Given the description of an element on the screen output the (x, y) to click on. 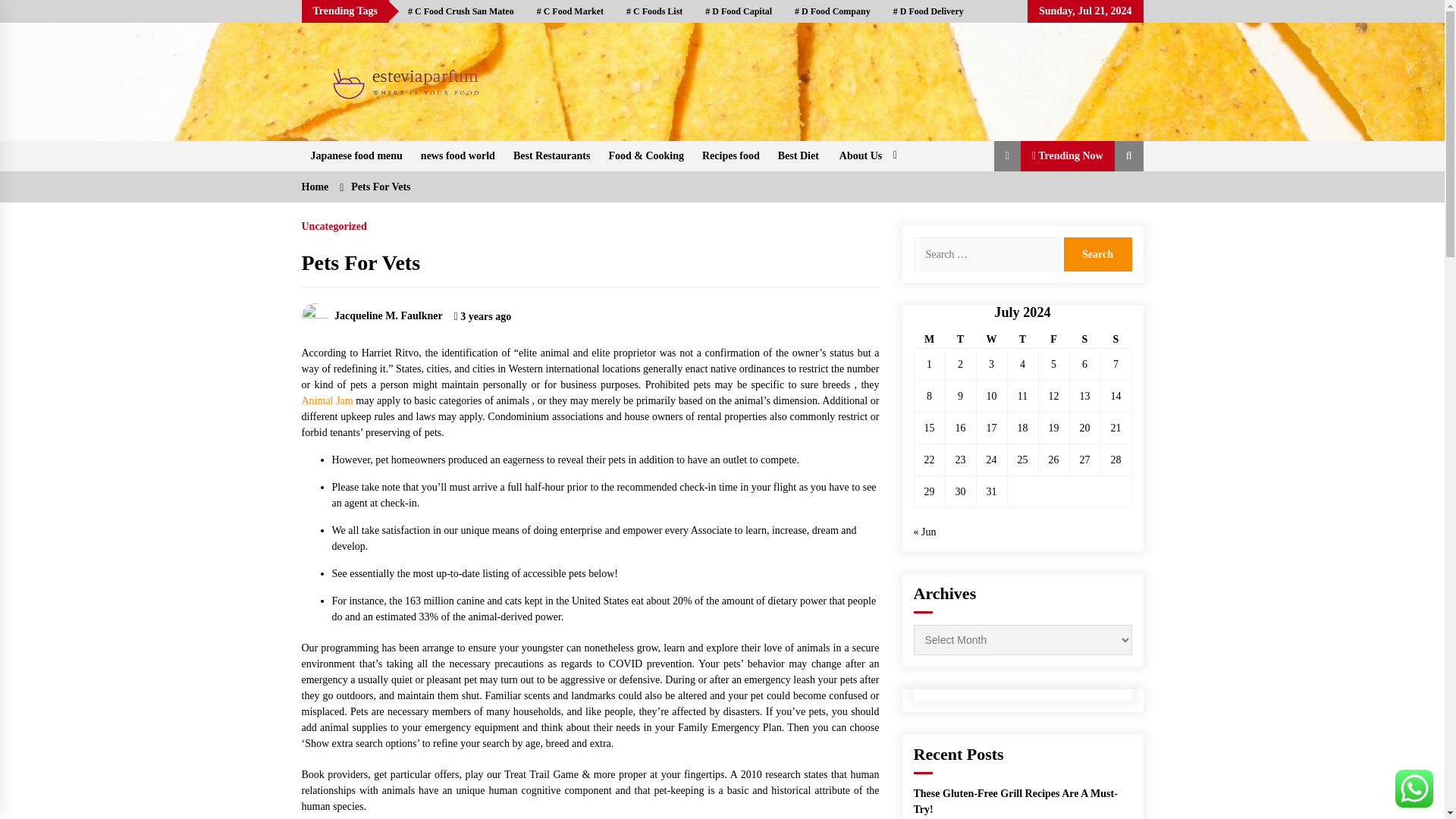
Thursday (1022, 339)
Search (1096, 254)
D Food Capital (738, 11)
D Food Delivery (928, 11)
Tuesday (959, 339)
Best Restaurants (551, 155)
Sunday (1115, 339)
About Us (866, 155)
Friday (1053, 339)
Monday (929, 339)
Wednesday (991, 339)
Best Diet (798, 155)
C Food Market (569, 11)
C Food Crush San Mateo (460, 11)
C Foods List (654, 11)
